Given the description of an element on the screen output the (x, y) to click on. 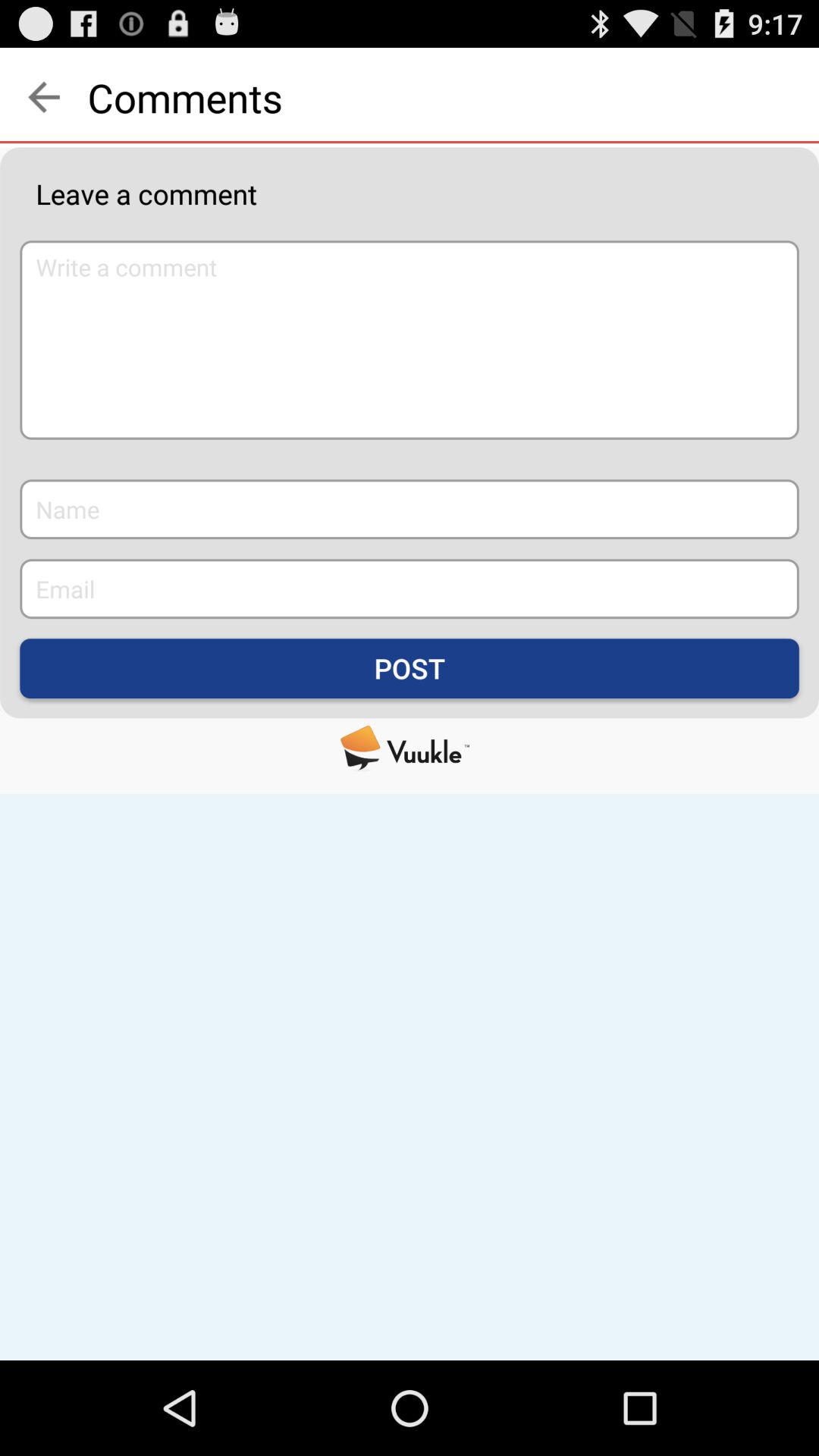
open the icon next to the comments (43, 97)
